Given the description of an element on the screen output the (x, y) to click on. 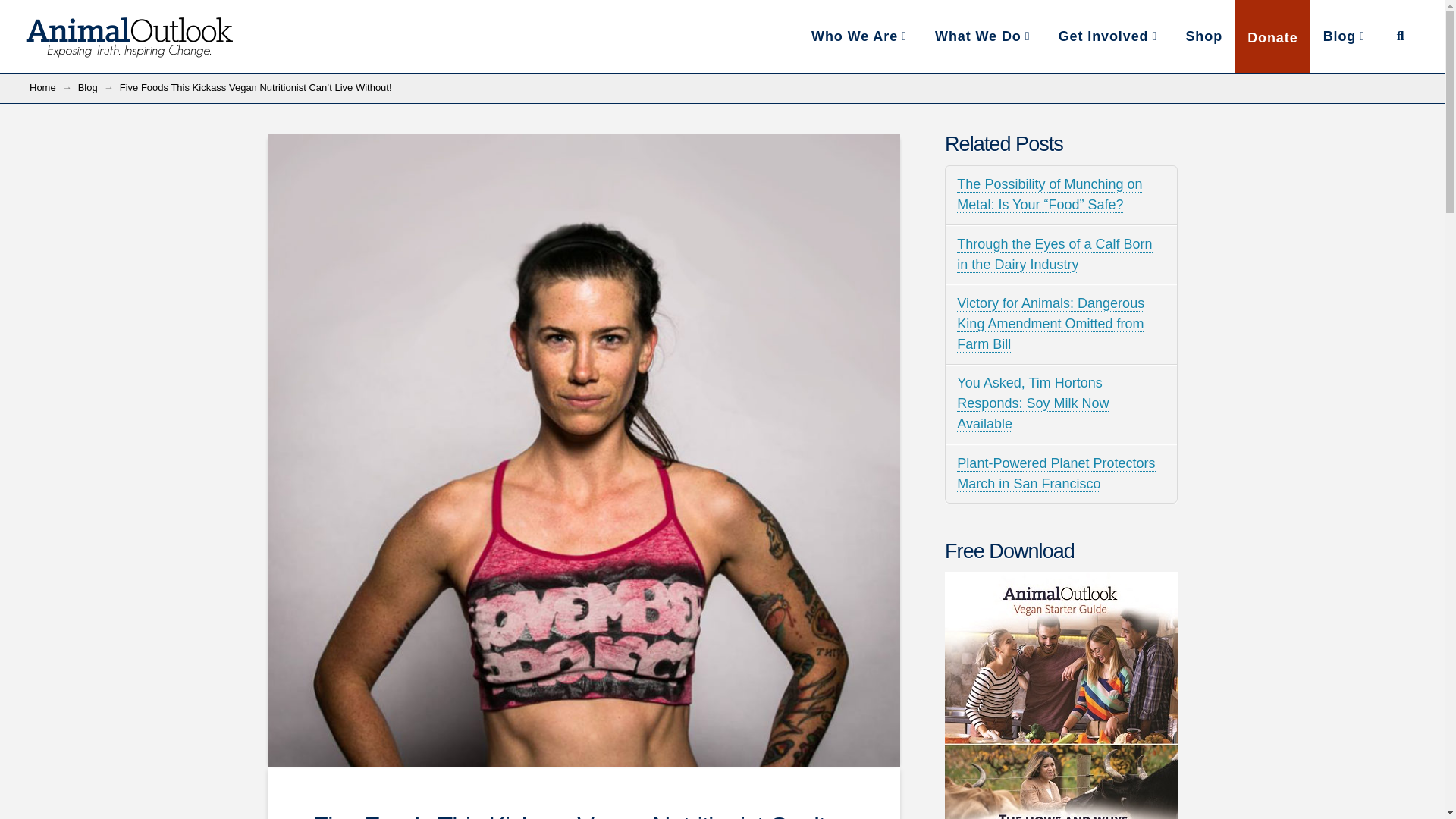
Blog (1345, 36)
Blog (87, 88)
Get Involved (1109, 36)
You Are Here (255, 88)
Home (42, 88)
Donate (1272, 36)
What We Do (983, 36)
Who We Are (859, 36)
